Given the description of an element on the screen output the (x, y) to click on. 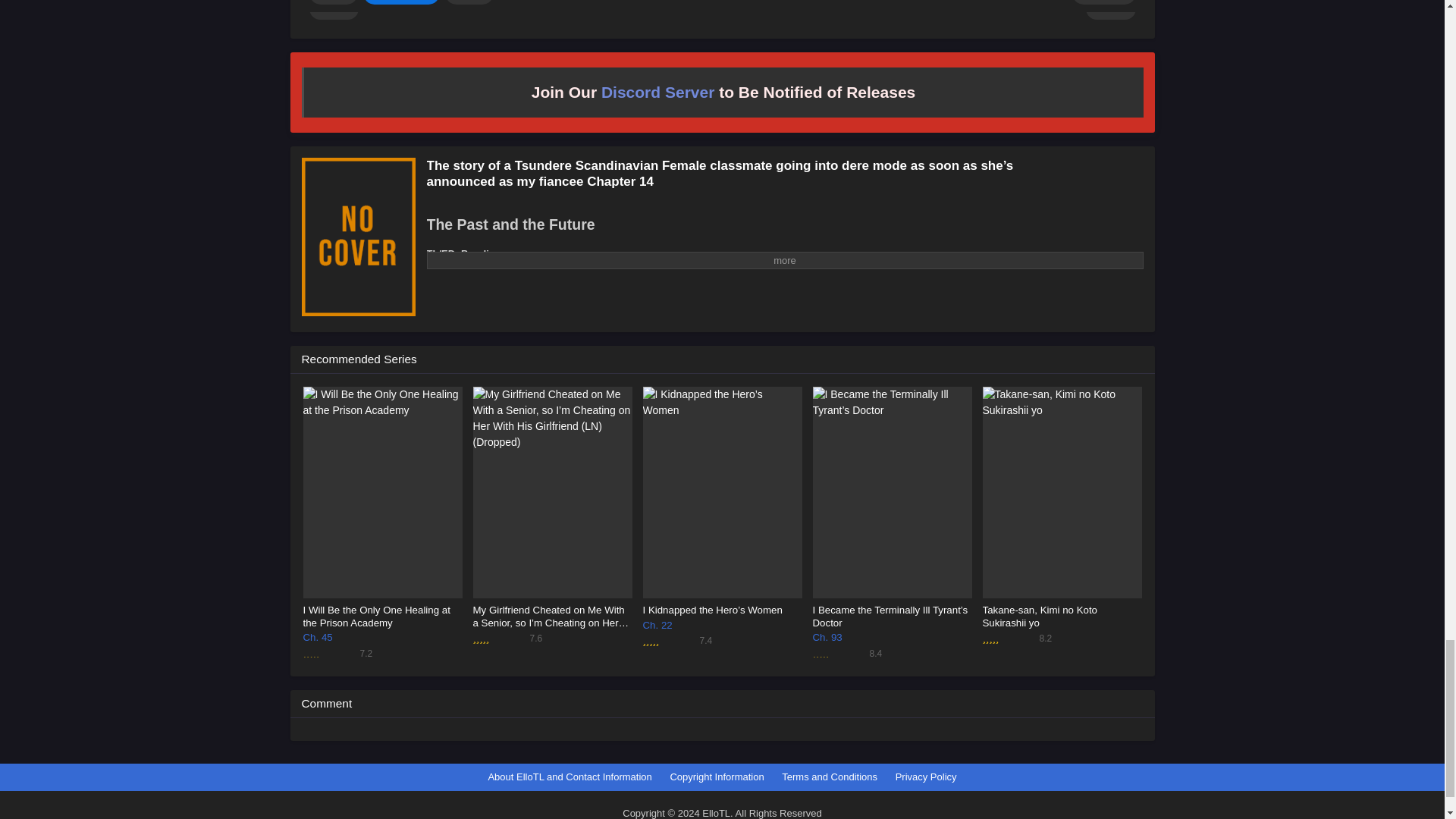
Discord Server (657, 91)
Privacy Policy (925, 776)
About ElloTL and Contact Information (568, 776)
Next (1110, 9)
Copyright Information (715, 776)
Terms and Conditions (829, 776)
Prev (333, 9)
